Given the description of an element on the screen output the (x, y) to click on. 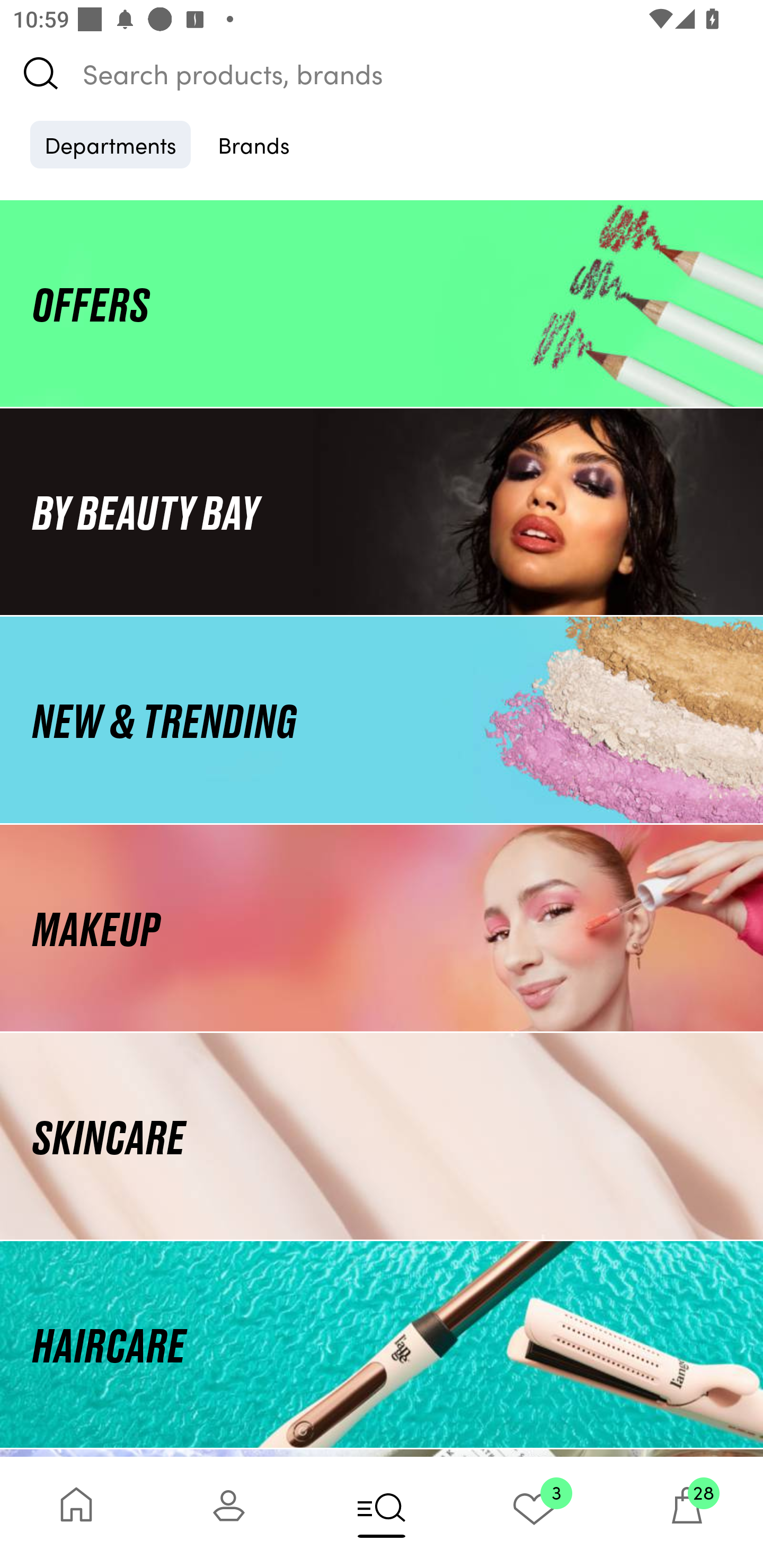
Search products, brands (381, 72)
Departments (110, 143)
Brands (253, 143)
OFFERS (381, 303)
BY BEAUTY BAY (381, 510)
NEW & TRENDING (381, 719)
MAKEUP (381, 927)
SKINCARE (381, 1136)
HAIRCARE (381, 1344)
3 (533, 1512)
28 (686, 1512)
